Given the description of an element on the screen output the (x, y) to click on. 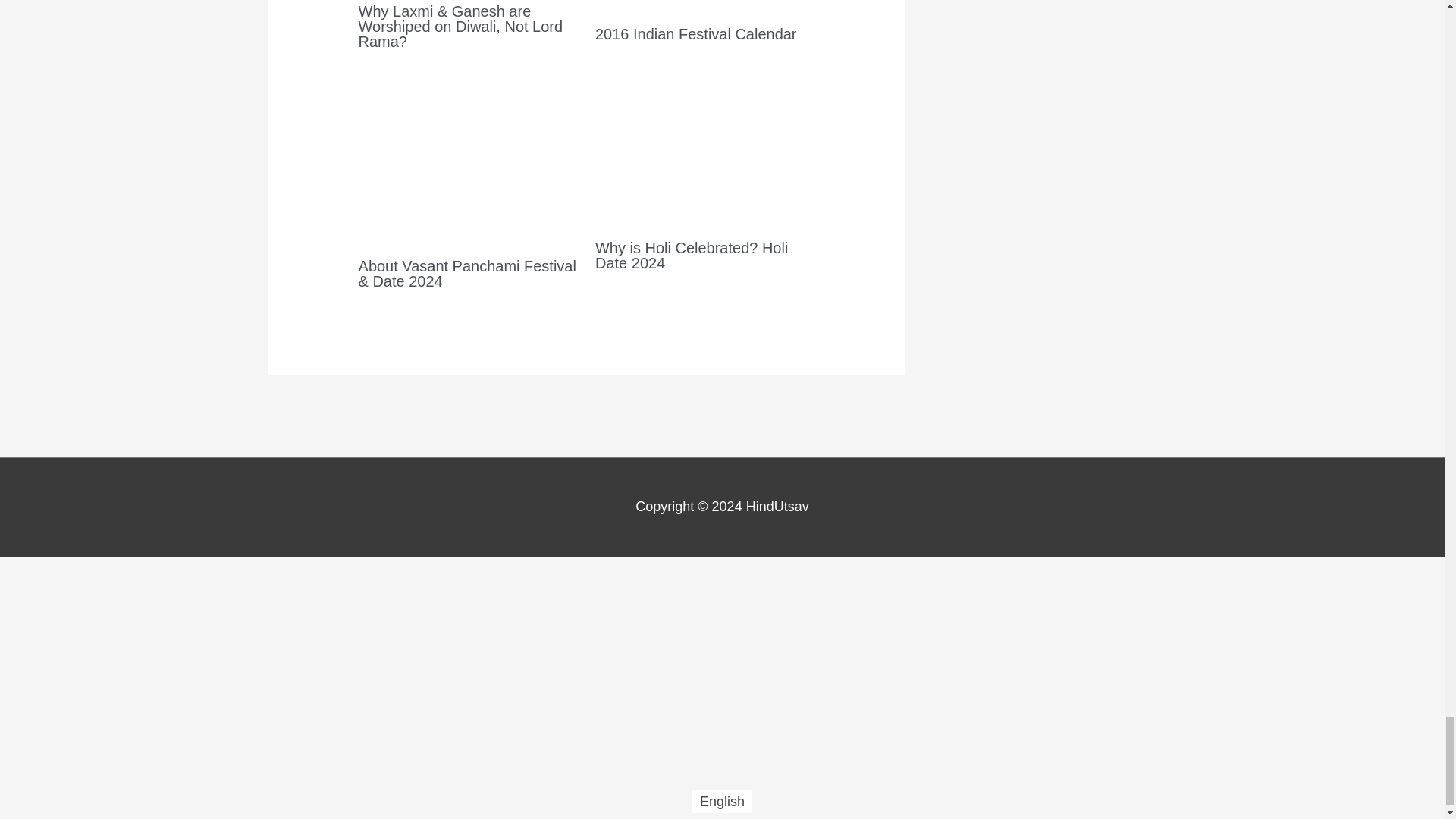
Why is Holi Celebrated? Holi Date 2024 6 (703, 153)
2016 Indian Festival Calendar (695, 33)
2016 Indian Festival Calendar 4 (703, 6)
Why is Holi Celebrated? Holi Date 2024 (691, 255)
